Given the description of an element on the screen output the (x, y) to click on. 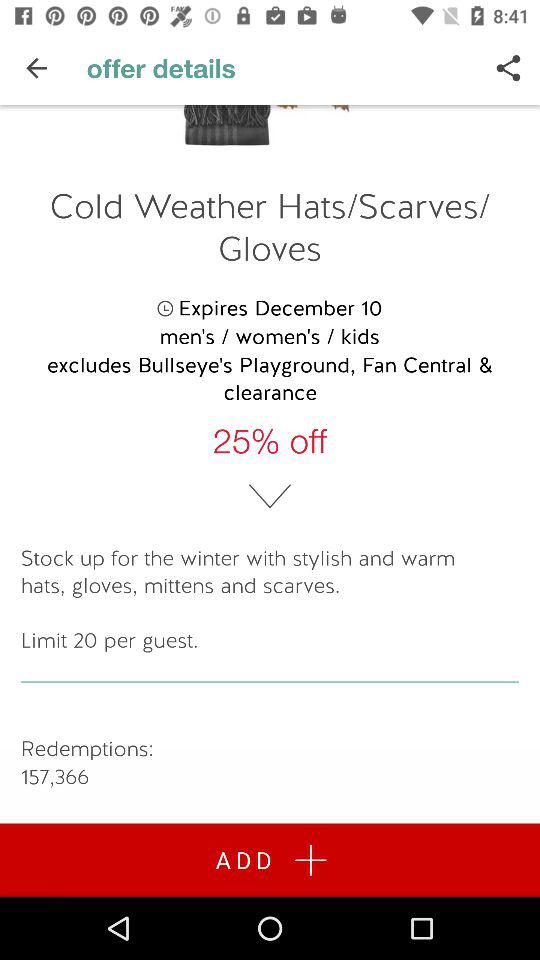
press the item above cold weather hats (36, 67)
